Given the description of an element on the screen output the (x, y) to click on. 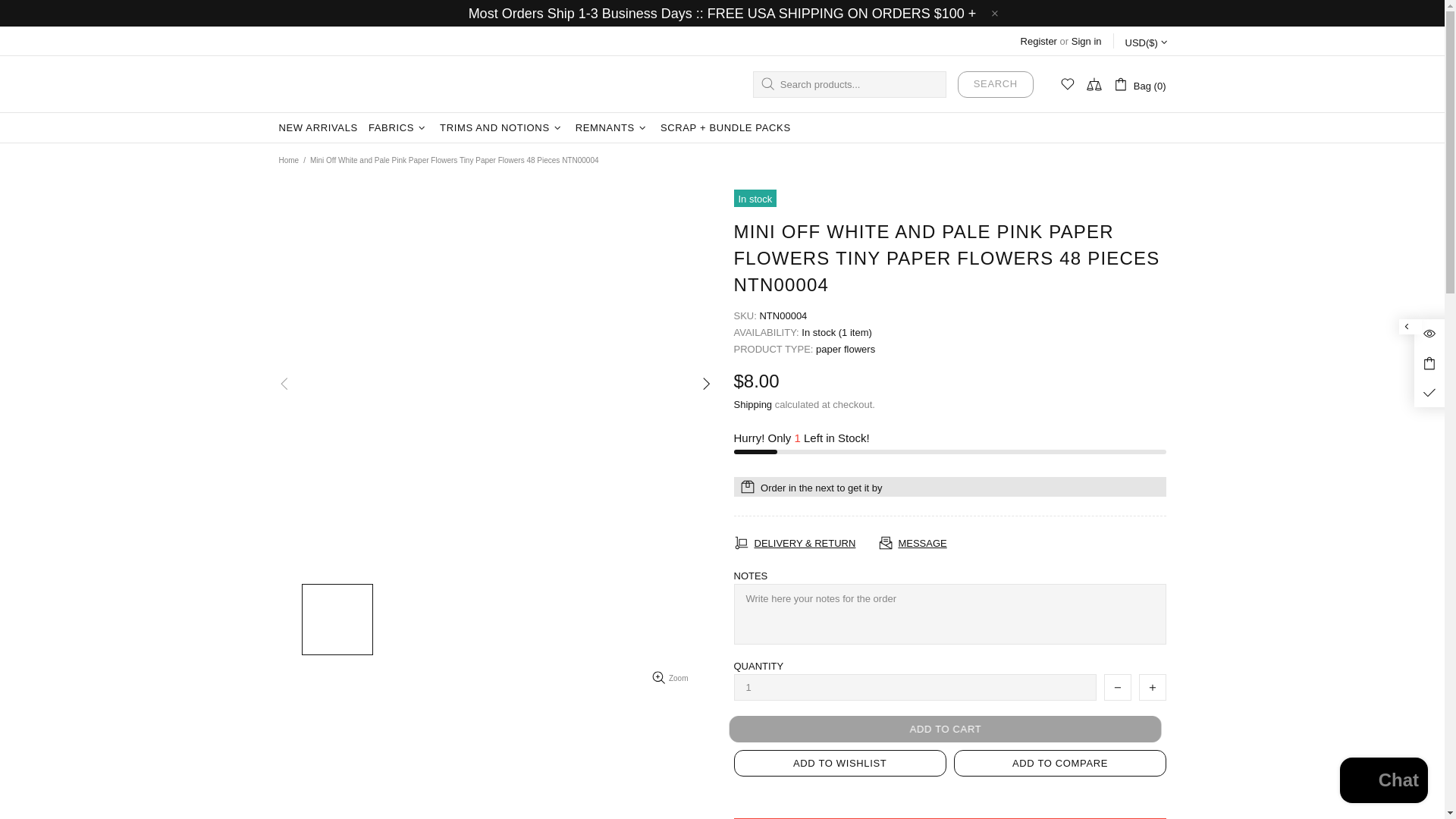
Shopify online store chat (1383, 781)
SEARCH (995, 84)
NEW ARRIVALS (317, 128)
Sign in (1086, 41)
FABRICS (397, 128)
Register (1038, 41)
1 (914, 687)
TRIMS AND NOTIONS (501, 128)
Felinus Fabrics (350, 84)
